Given the description of an element on the screen output the (x, y) to click on. 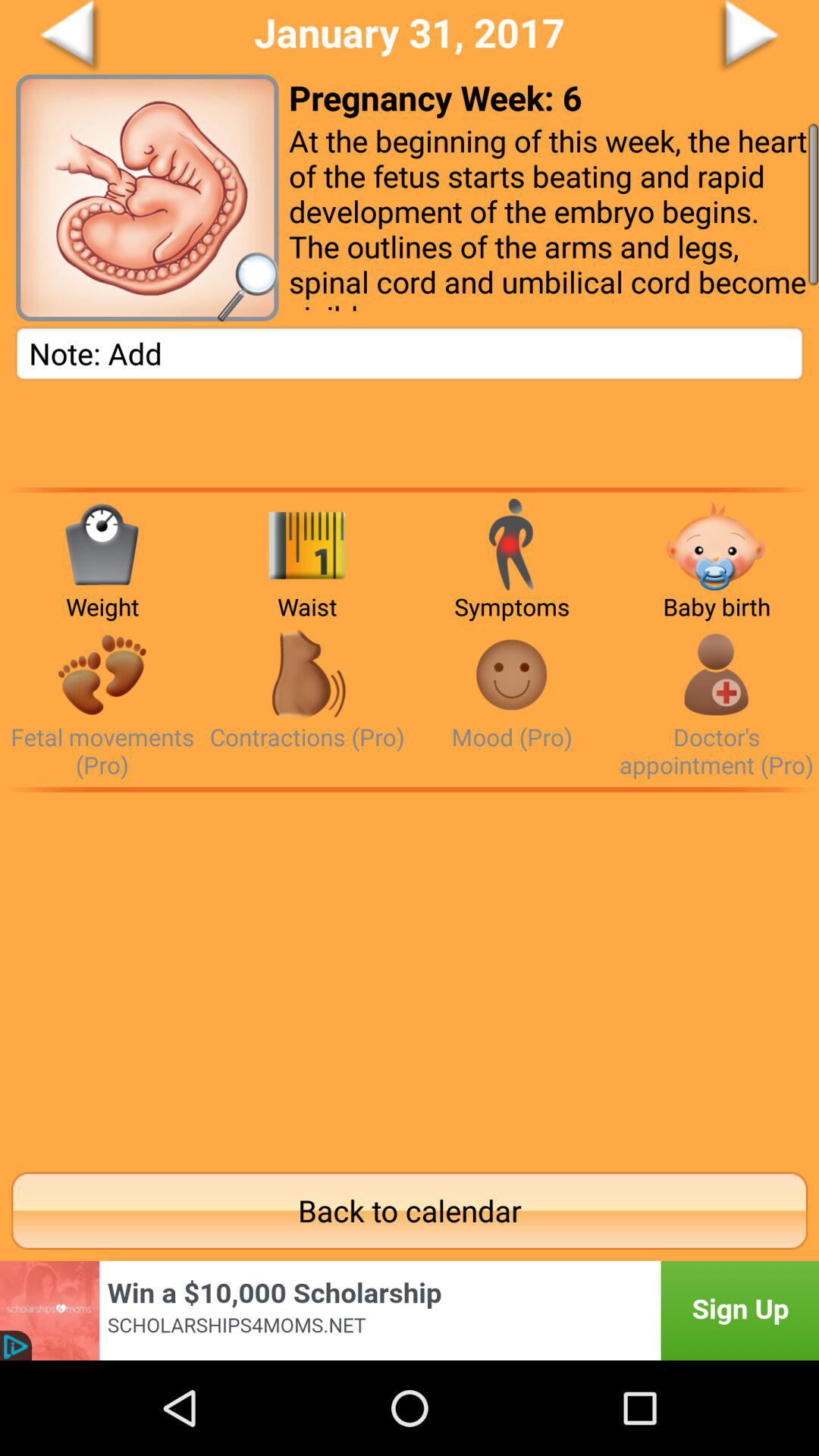
go to advertisement (409, 1310)
